Given the description of an element on the screen output the (x, y) to click on. 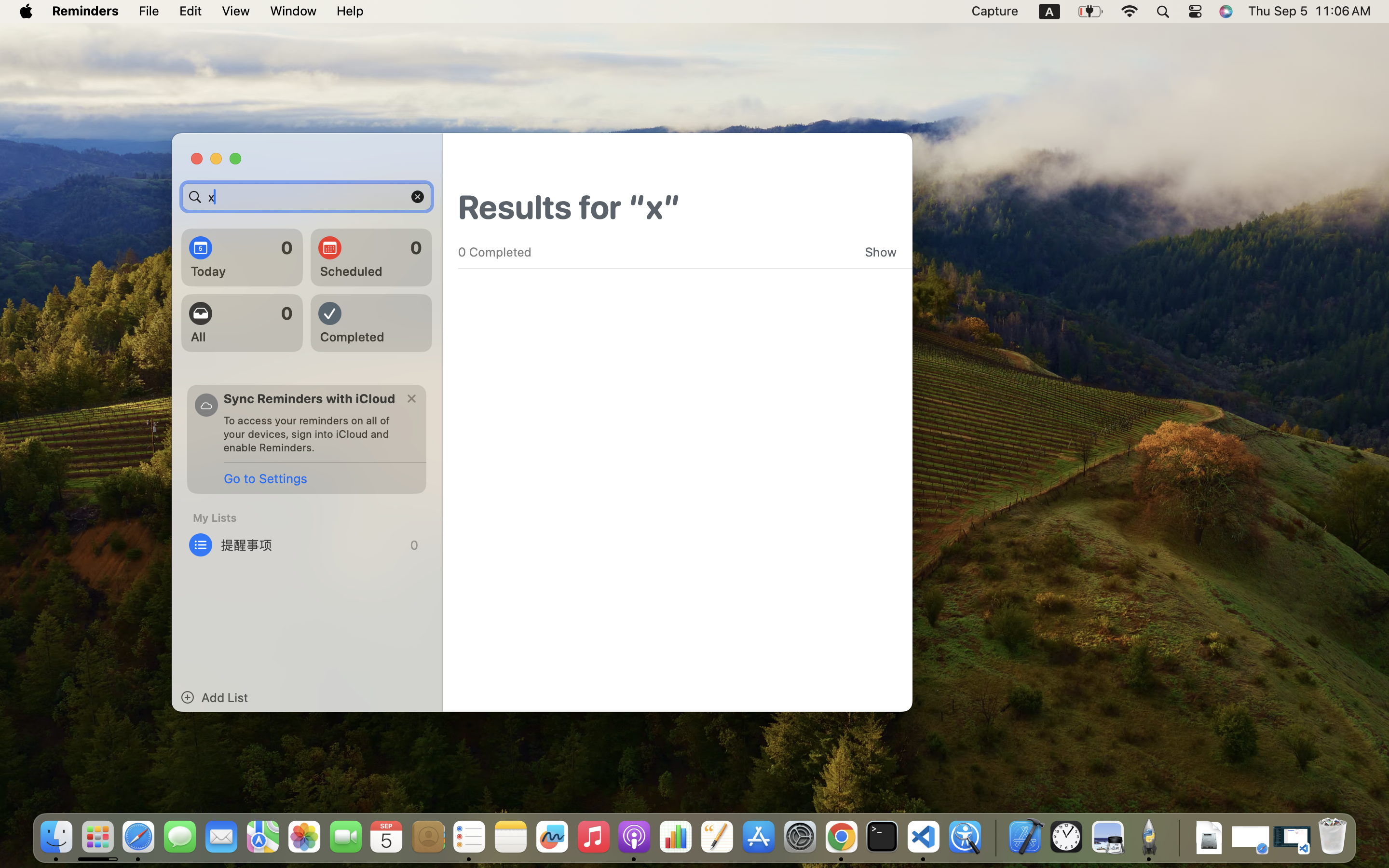
To access your reminders on all of your devices, sign into iCloud and enable Reminders. Element type: AXStaticText (310, 433)
0 Completed Element type: AXStaticText (494, 251)
Sync Reminders with iCloud Element type: AXStaticText (309, 398)
提醒事项 Element type: AXTextField (306, 544)
